Given the description of an element on the screen output the (x, y) to click on. 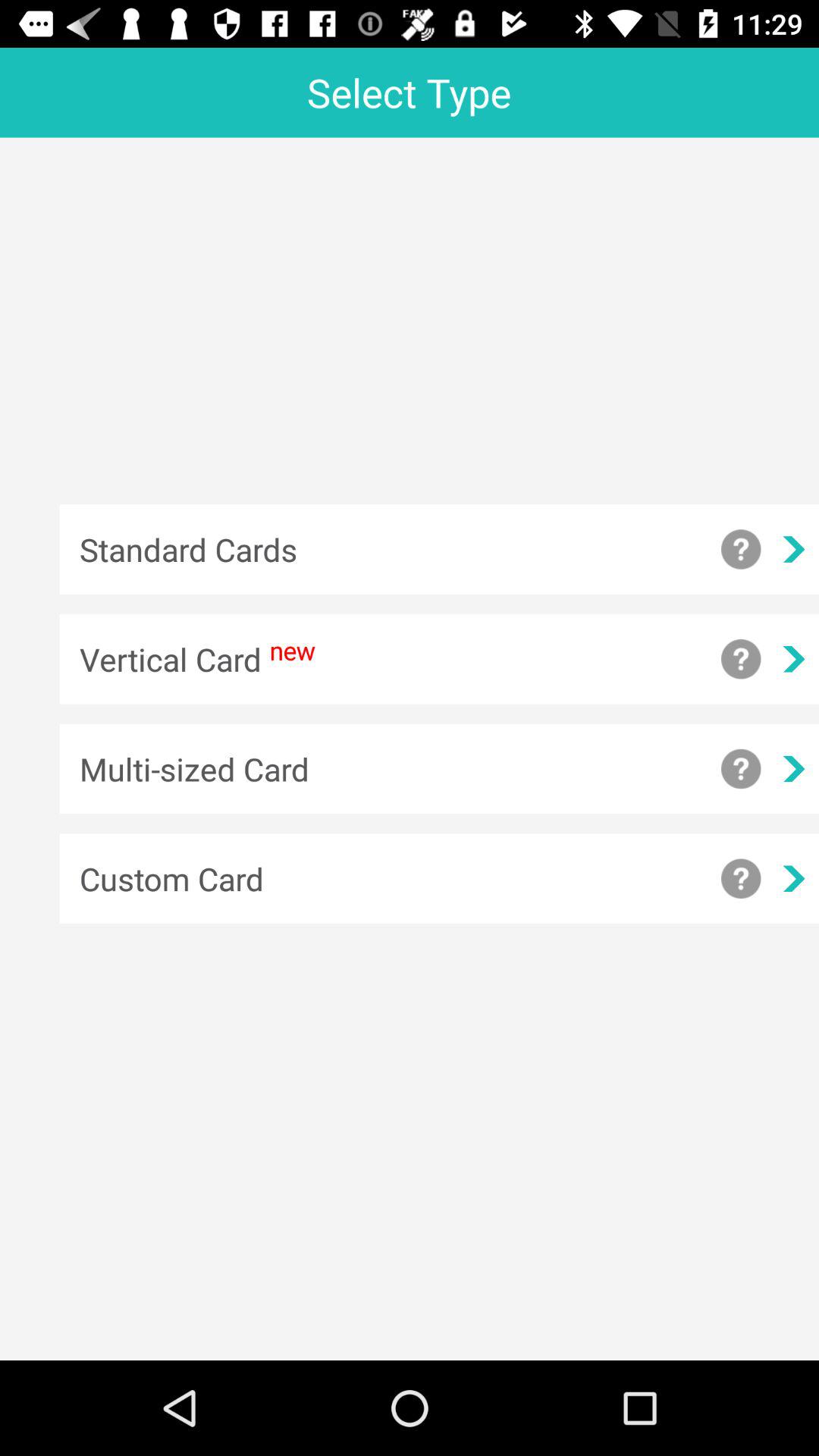
show more information (740, 768)
